Given the description of an element on the screen output the (x, y) to click on. 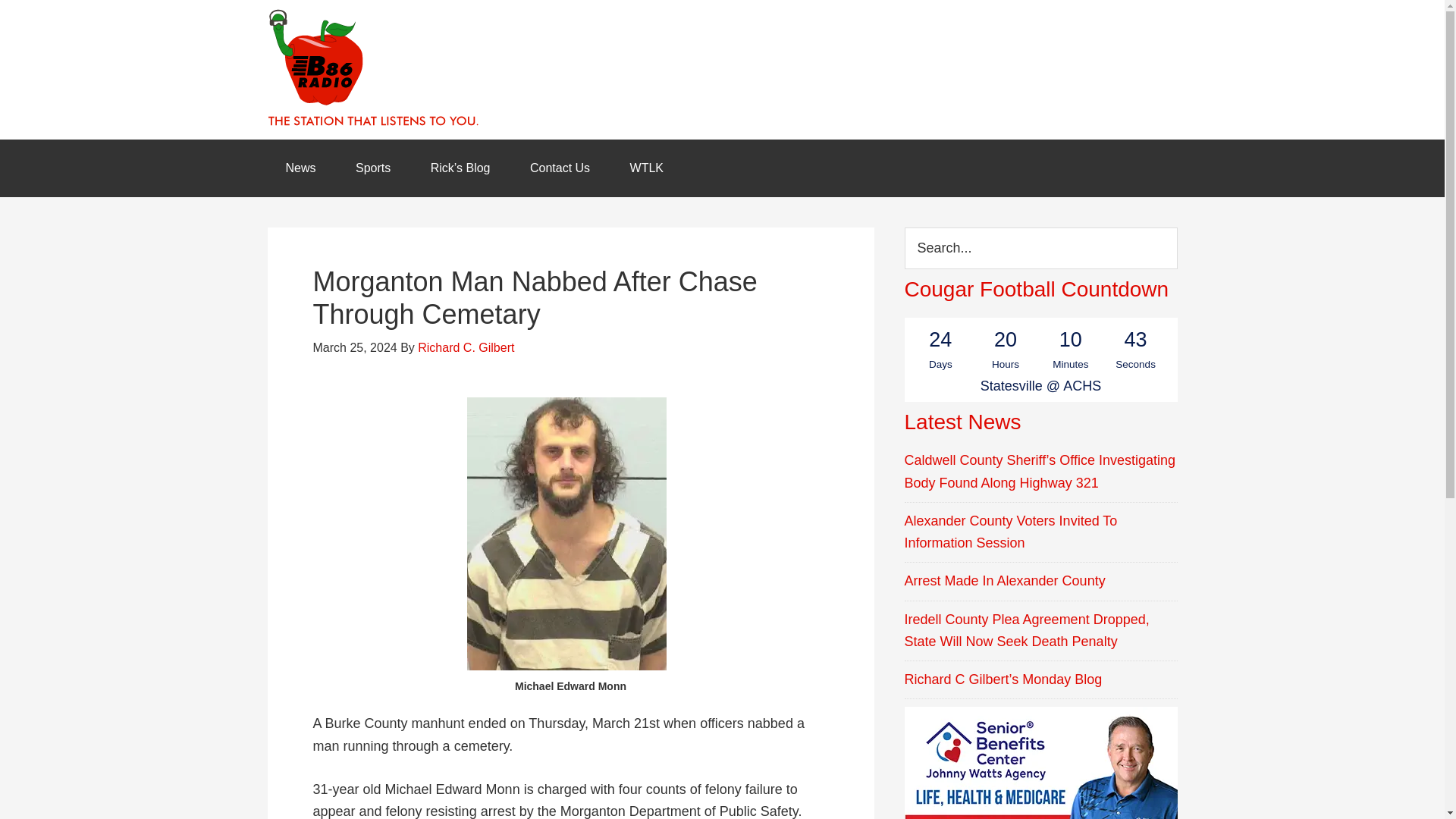
WACB 860AM (721, 69)
Sports (373, 168)
WTLK (646, 168)
Contact Us (560, 168)
News (299, 168)
Alexander County Voters Invited To Information Session (1010, 531)
Arrest Made In Alexander County (1004, 580)
Richard C. Gilbert (465, 347)
